Given the description of an element on the screen output the (x, y) to click on. 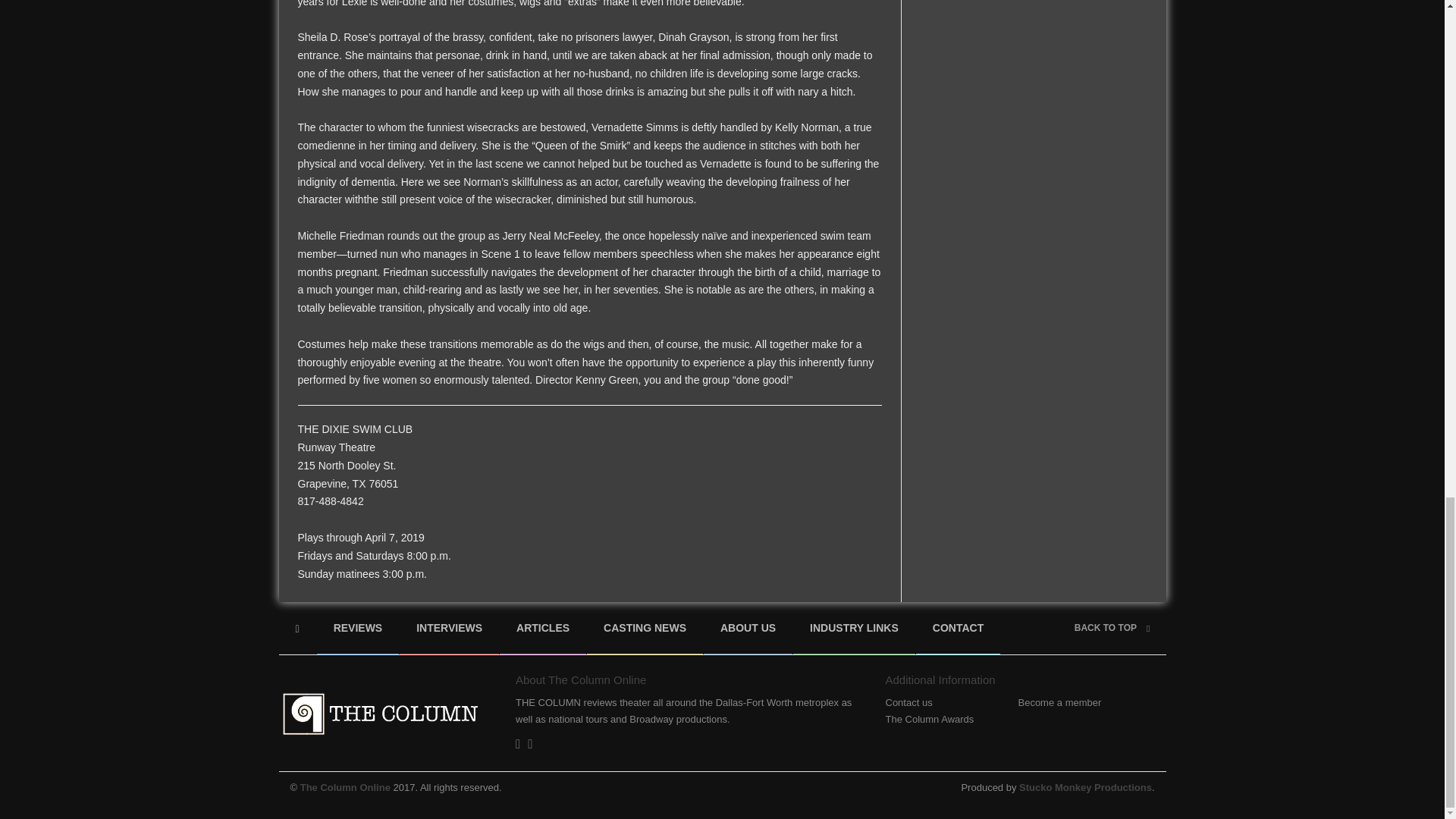
INTERVIEWS (448, 627)
CASTING NEWS (644, 627)
BACK TO TOP (1112, 627)
BACK TO TOP (1112, 627)
ARTICLES (542, 627)
CONTACT (957, 627)
ABOUT US (747, 627)
REVIEWS (357, 627)
INDUSTRY LINKS (854, 627)
